Given the description of an element on the screen output the (x, y) to click on. 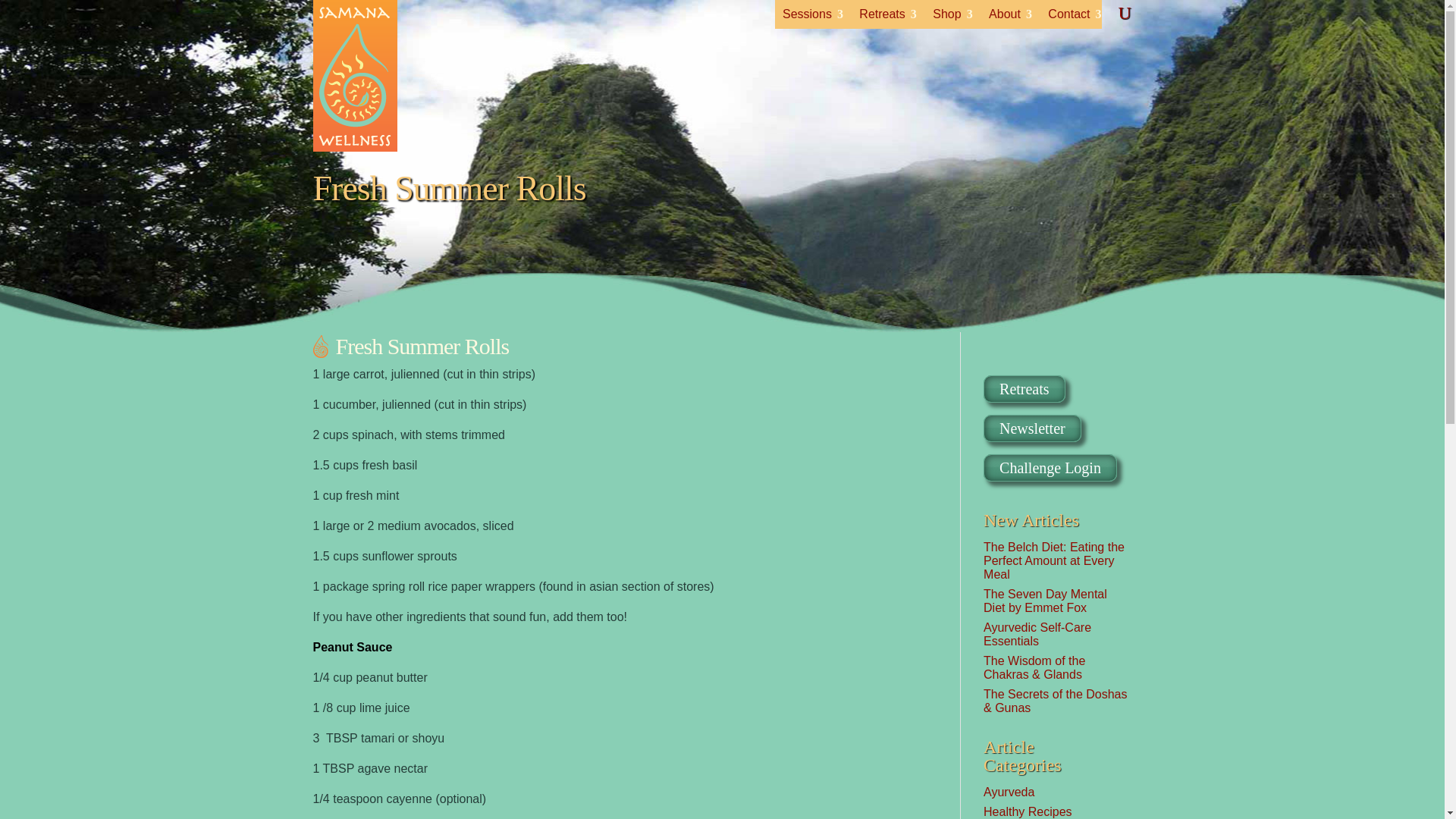
Retreats (881, 17)
About (1004, 17)
Sessions (807, 17)
Contact (1069, 17)
Shop (946, 17)
